Given the description of an element on the screen output the (x, y) to click on. 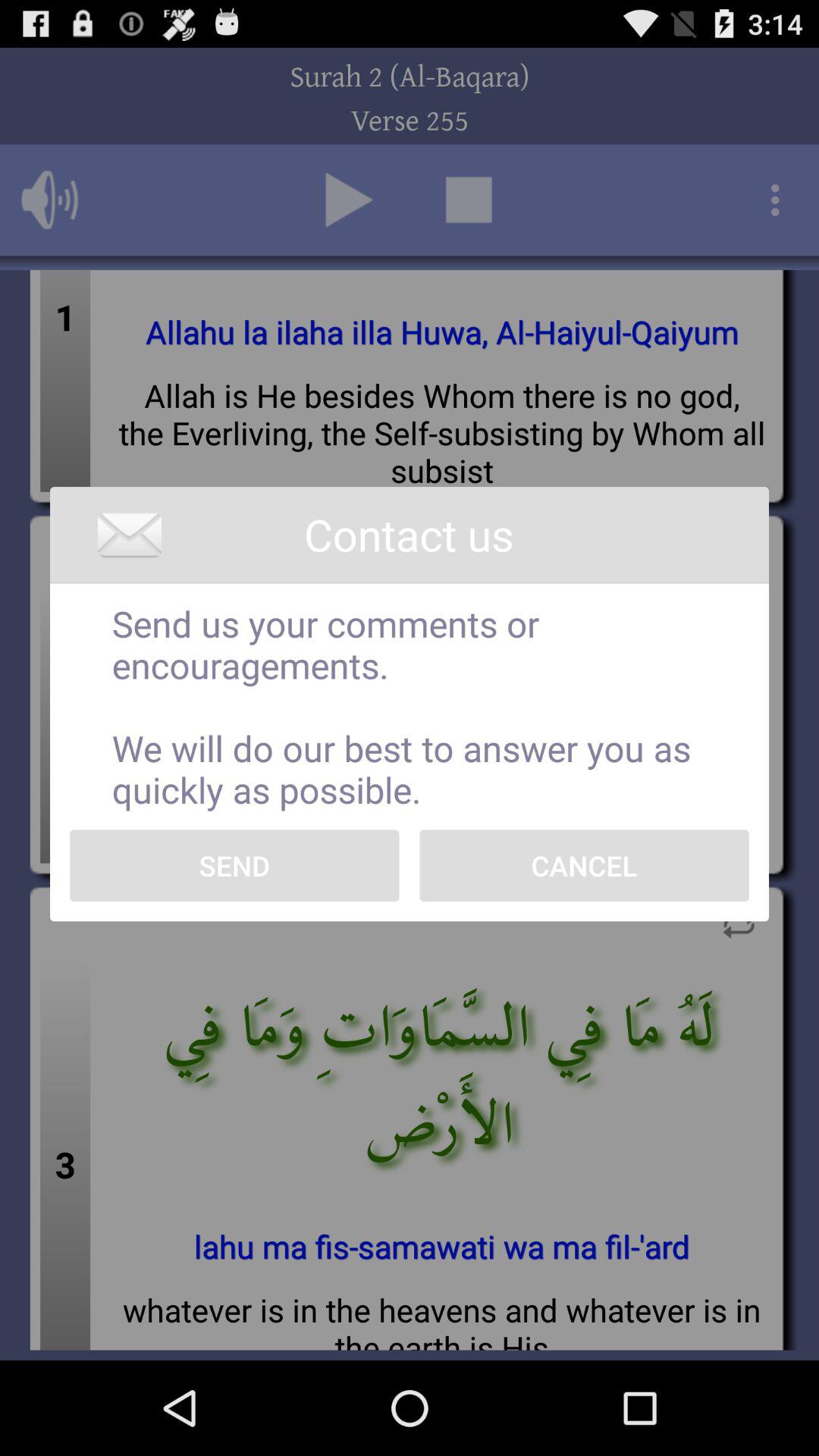
click icon on the right (584, 865)
